Given the description of an element on the screen output the (x, y) to click on. 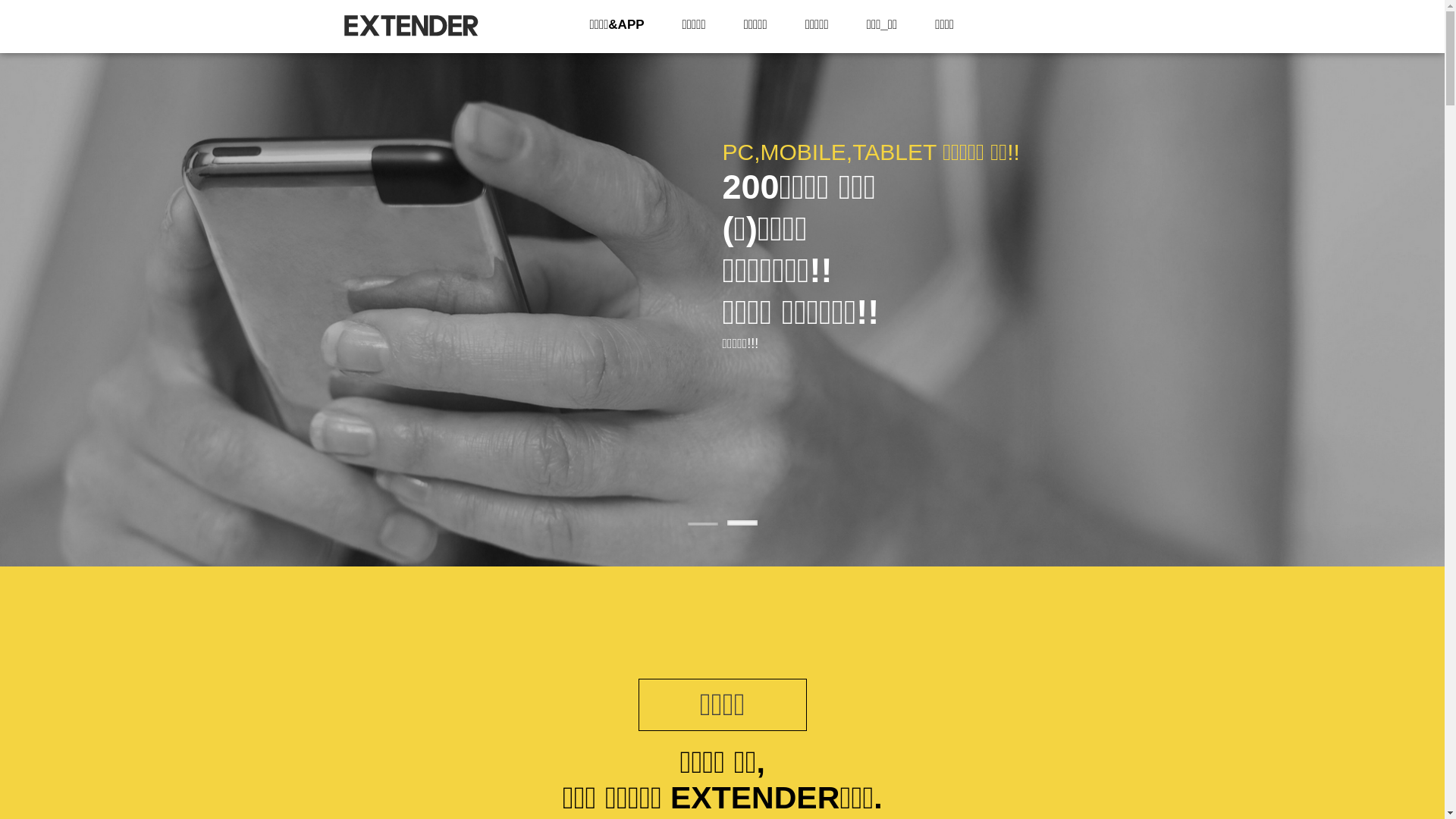
2 Element type: text (741, 522)
1 Element type: text (702, 523)
